Given the description of an element on the screen output the (x, y) to click on. 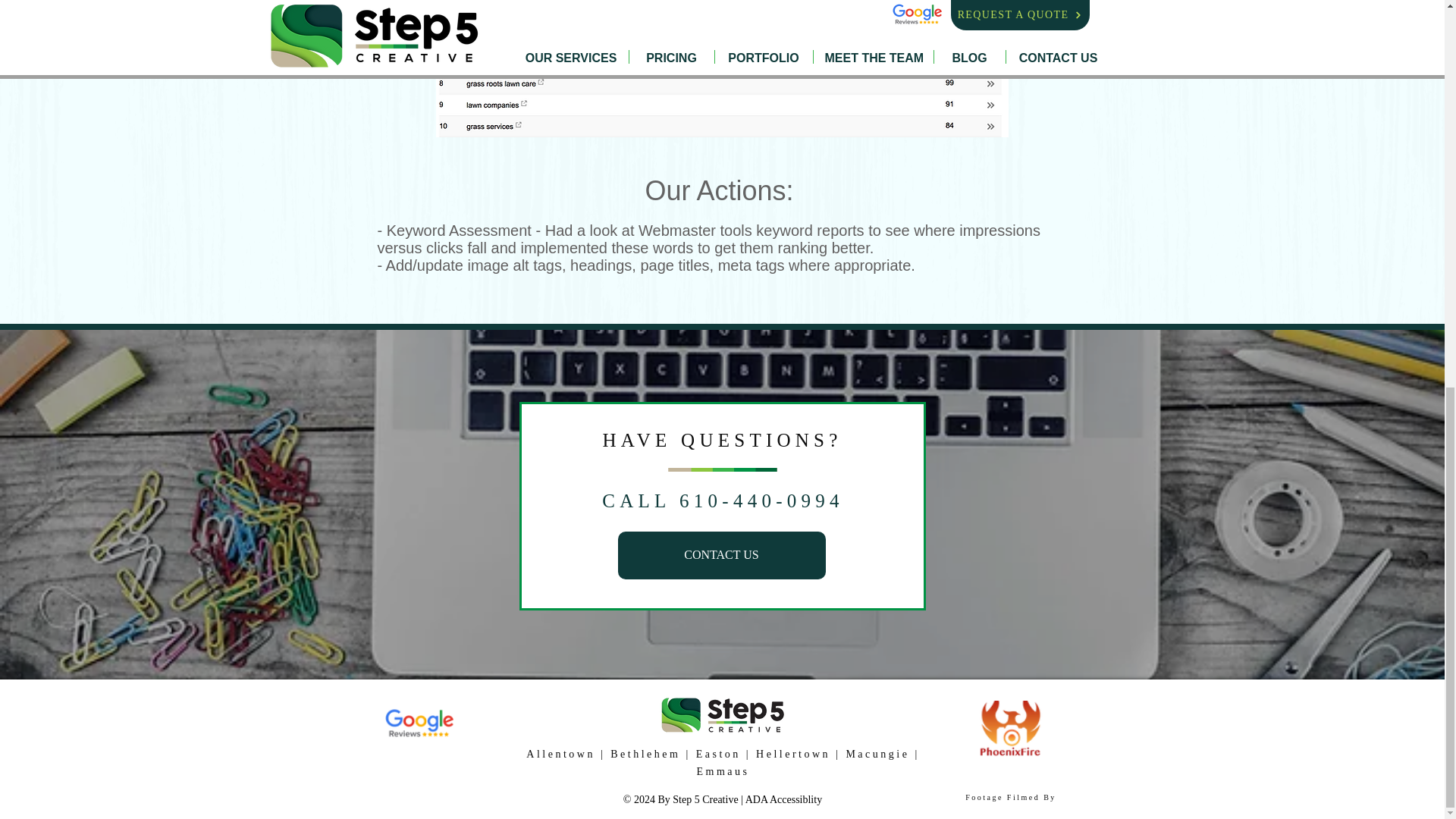
step5.png (722, 716)
Macungie (876, 754)
CONTACT US (721, 555)
Emmaus (722, 771)
Hellertown (792, 754)
ADA Accessiblity (783, 799)
Allentown (560, 754)
Easton (718, 754)
Bethlehem (644, 754)
